Given the description of an element on the screen output the (x, y) to click on. 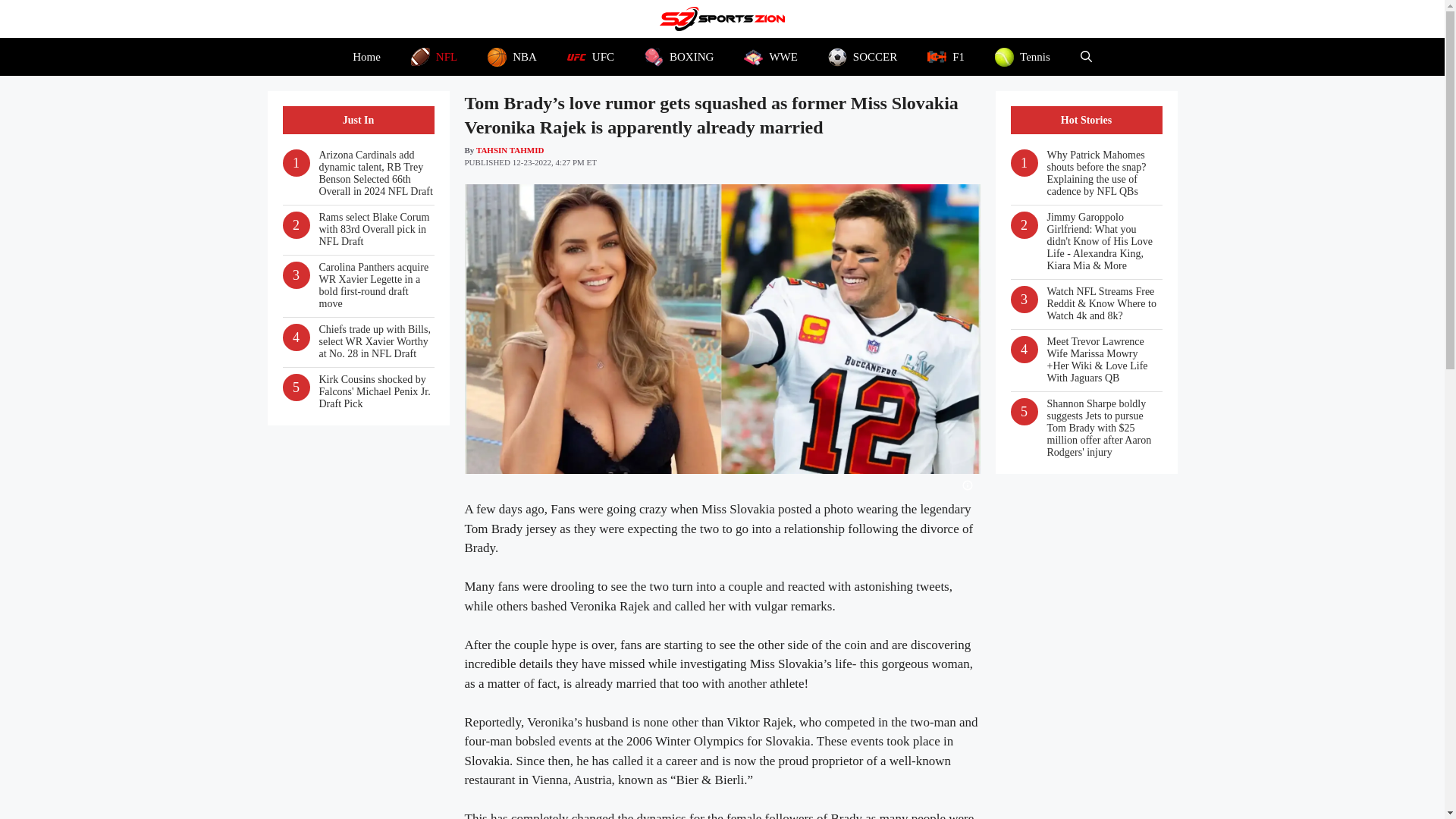
TAHSIN TAHMID (510, 149)
BOXING (678, 56)
F1 (945, 56)
SOCCER (862, 56)
UFC (589, 56)
WWE (770, 56)
NBA (511, 56)
Home (366, 56)
Tennis (1022, 56)
NFL (433, 56)
